Given the description of an element on the screen output the (x, y) to click on. 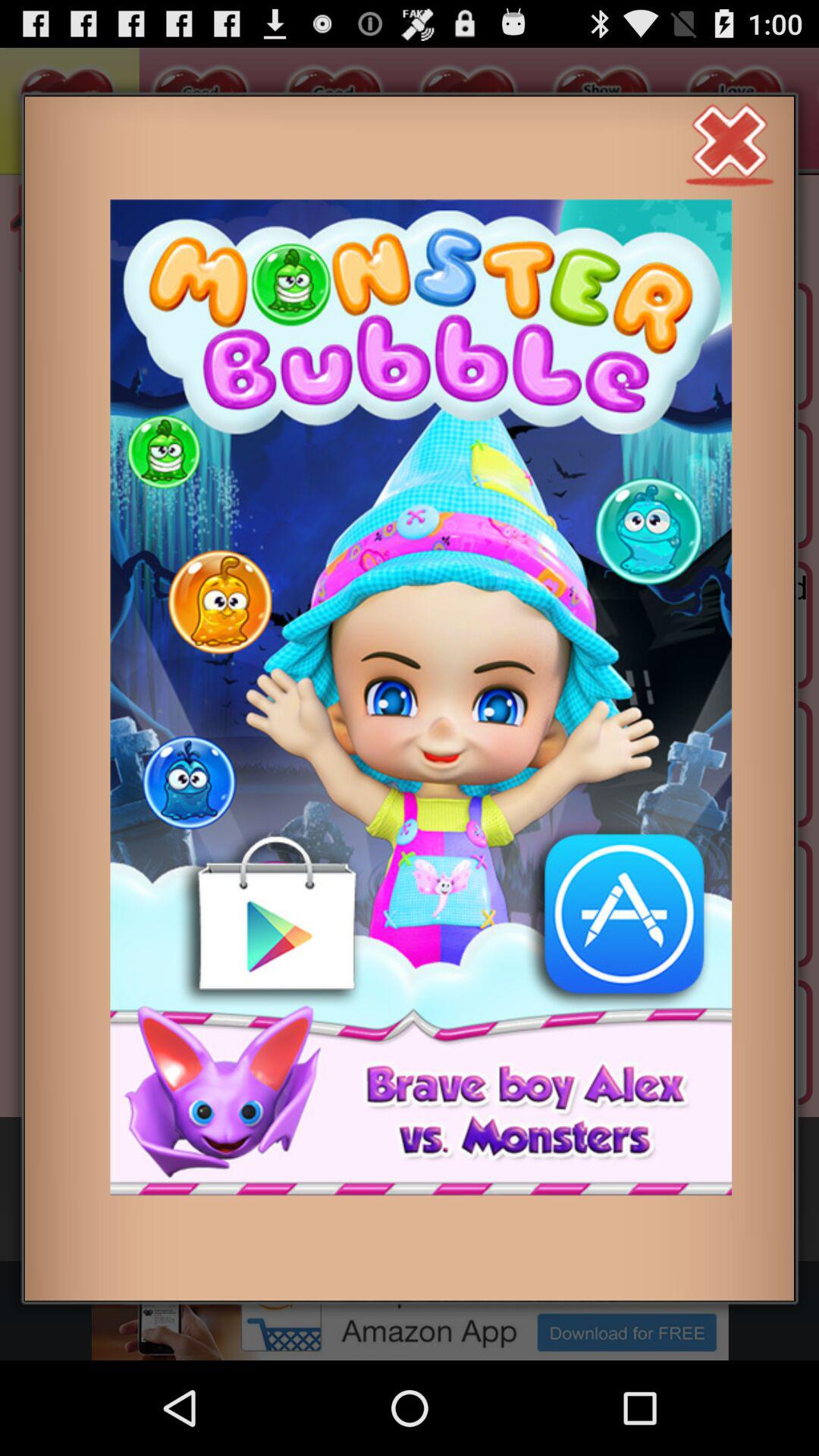
open game (420, 697)
